Given the description of an element on the screen output the (x, y) to click on. 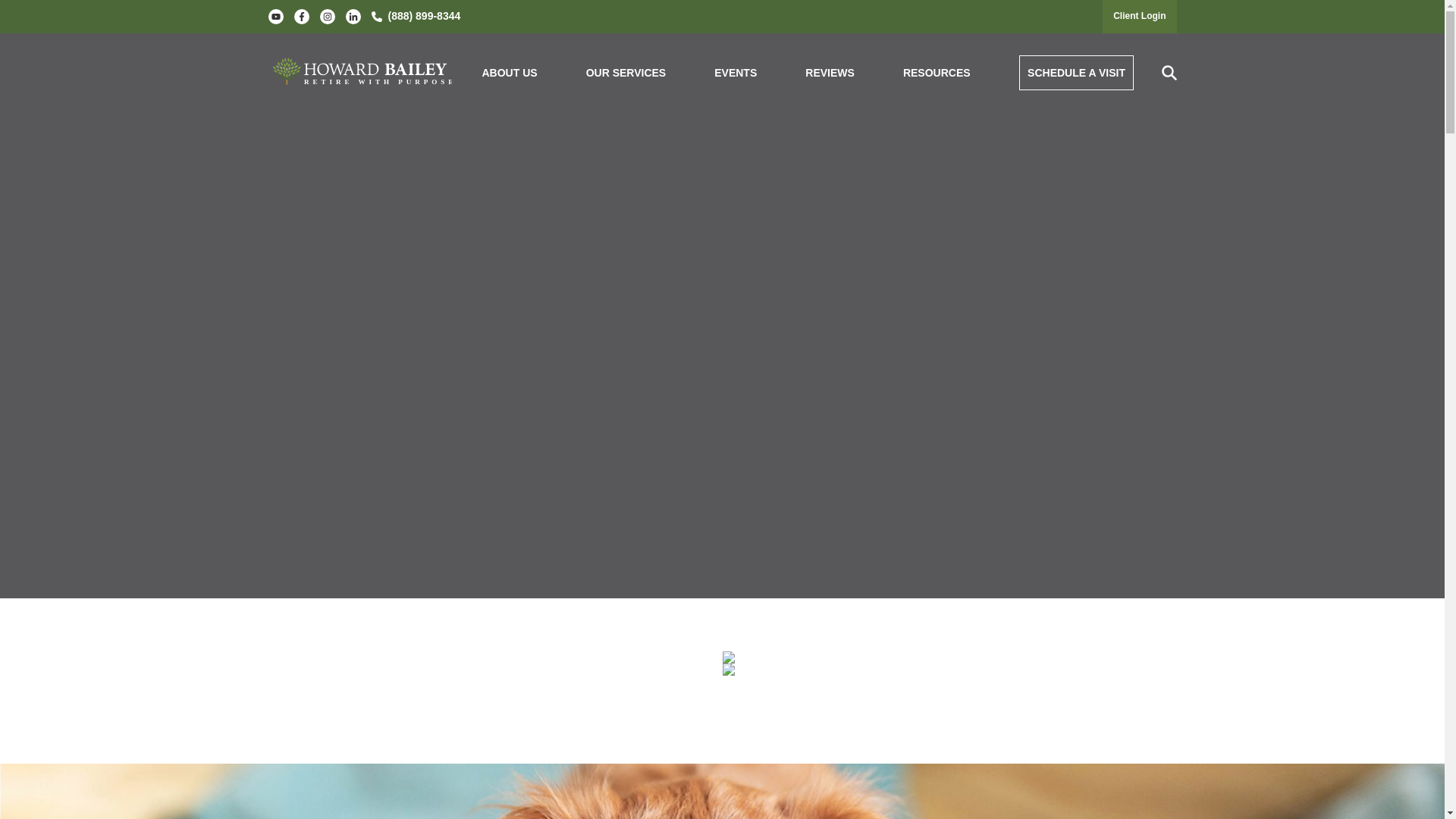
SCHEDULE A VISIT (1077, 72)
OUR SERVICES (626, 72)
EVENTS (735, 72)
REVIEWS (829, 72)
ABOUT US (509, 72)
RESOURCES (936, 72)
Client Login (1139, 16)
